Given the description of an element on the screen output the (x, y) to click on. 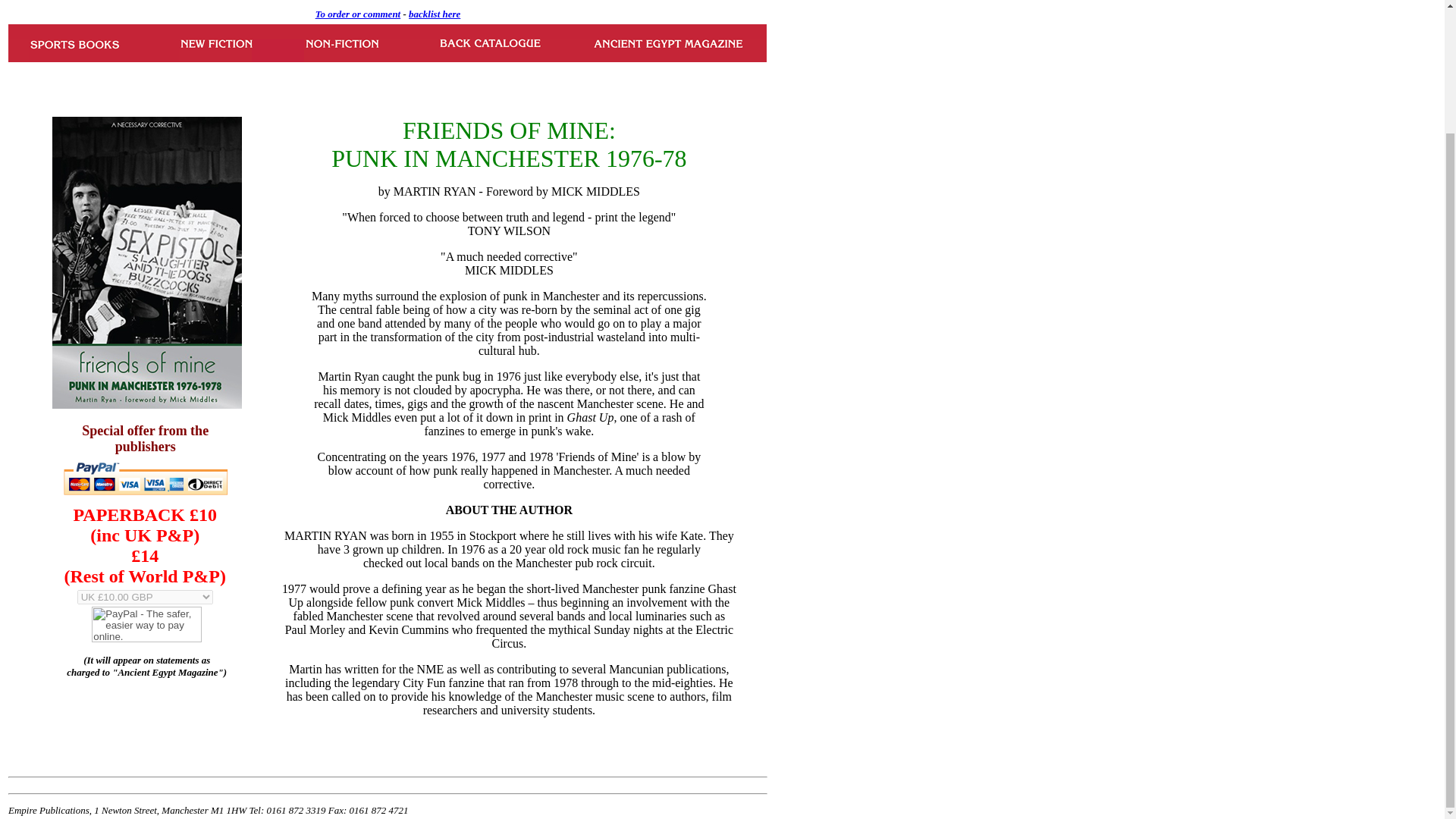
To order or comment (358, 12)
backlist here (434, 13)
